Given the description of an element on the screen output the (x, y) to click on. 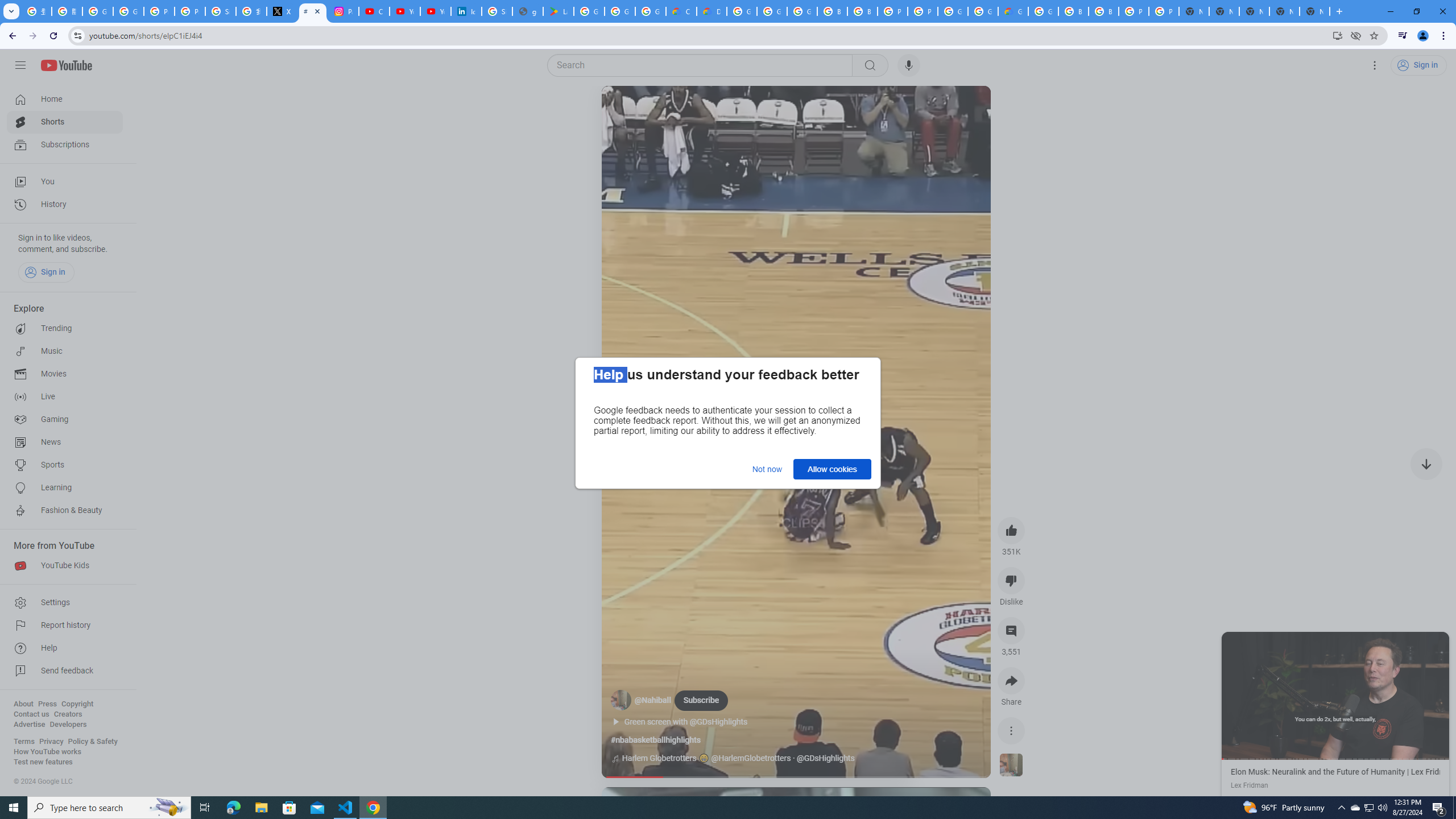
Google Cloud Estimate Summary (1012, 11)
See more videos using this sound (1011, 765)
Guide (20, 65)
Movies (64, 373)
Dislike this video (1011, 580)
How YouTube works (47, 751)
Browse Chrome as a guest - Computer - Google Chrome Help (1072, 11)
Trending (64, 328)
Home (64, 99)
